Given the description of an element on the screen output the (x, y) to click on. 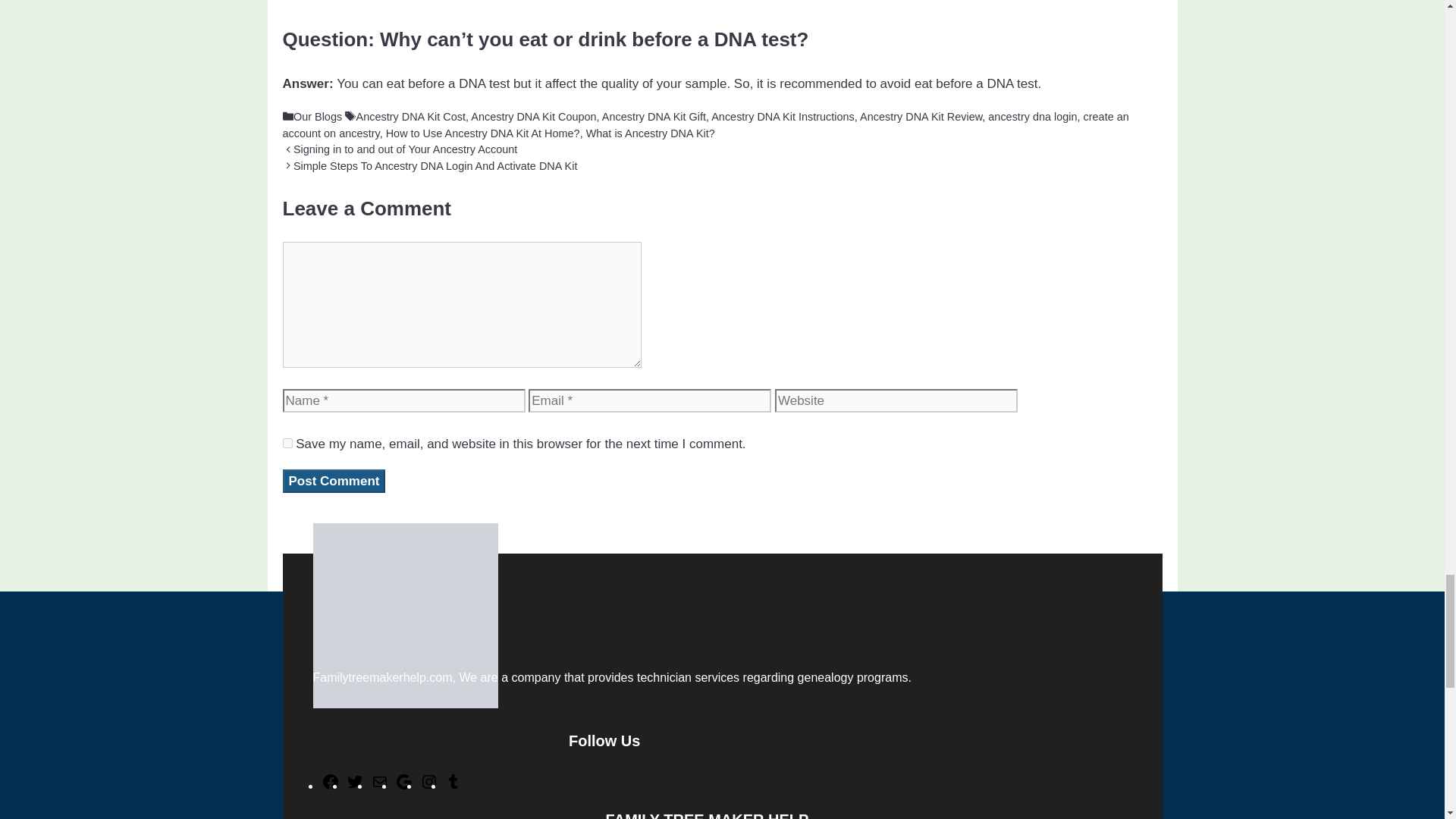
Our Blogs (318, 116)
Ancestry DNA Kit Cost (410, 116)
Post Comment (333, 481)
yes (287, 442)
